Given the description of an element on the screen output the (x, y) to click on. 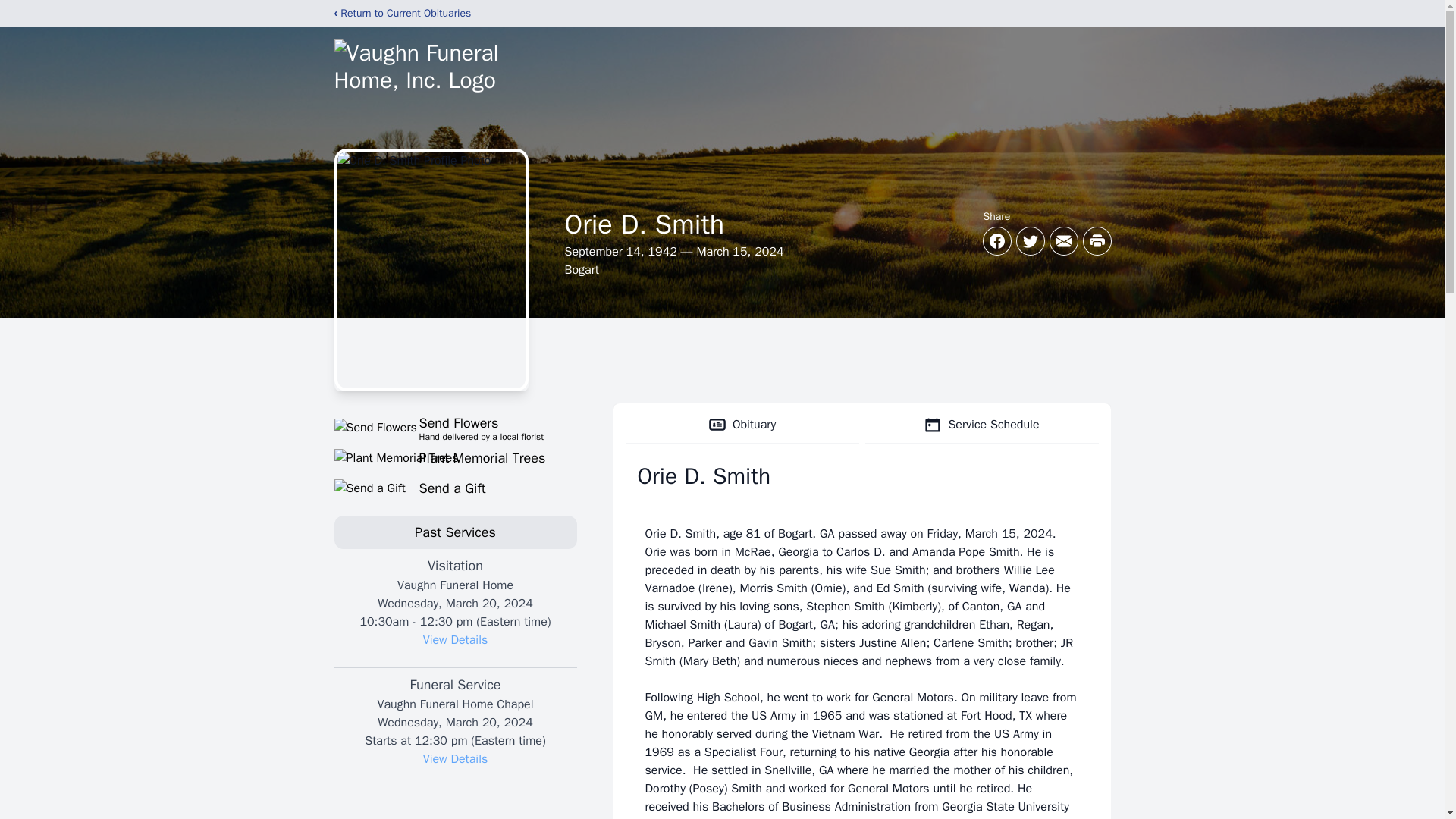
View Details (455, 639)
Service Schedule (980, 425)
Send a Gift (454, 488)
View Details (455, 758)
Plant Memorial Trees (454, 427)
Obituary (454, 457)
